Given the description of an element on the screen output the (x, y) to click on. 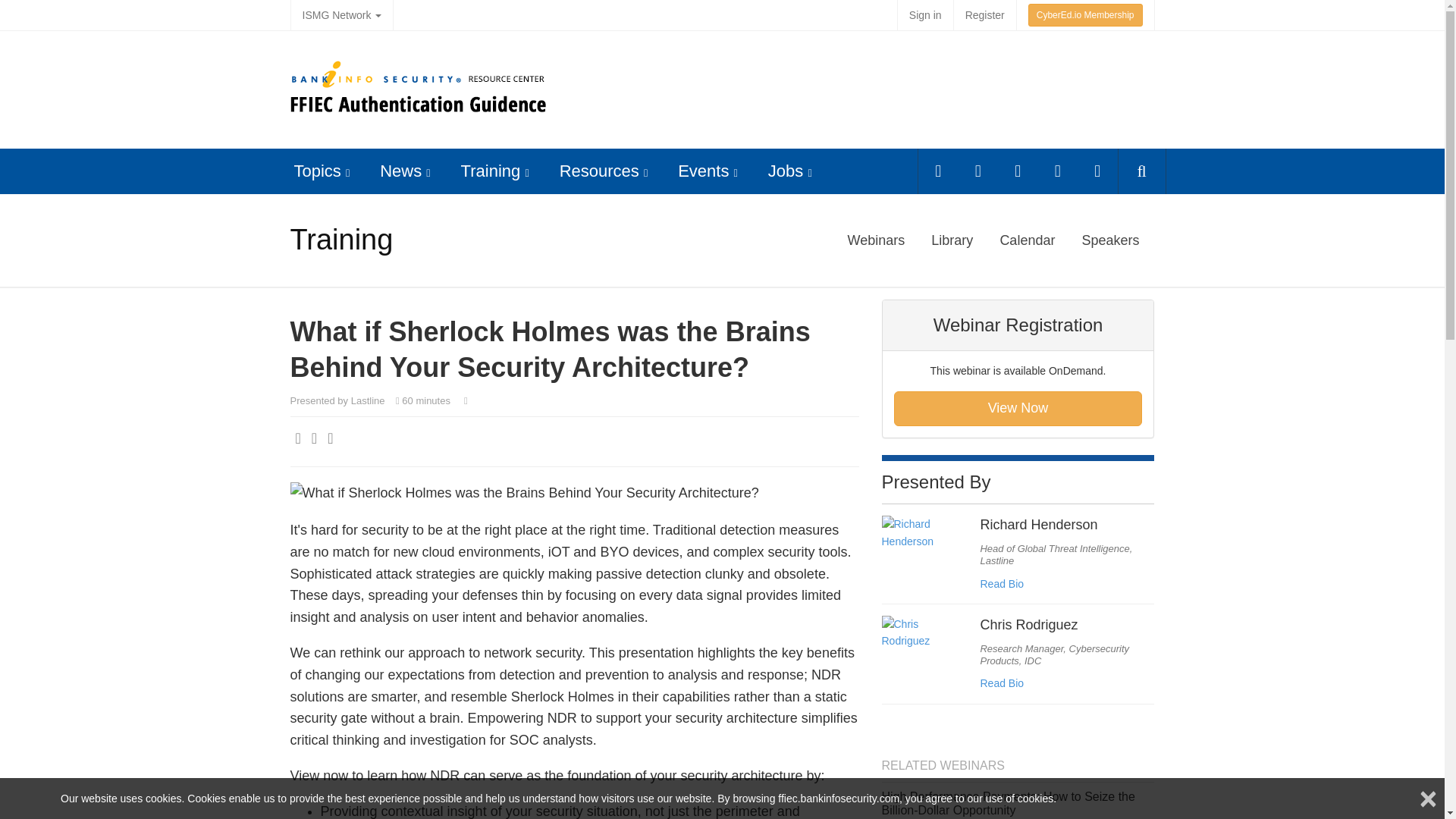
ISMG Network (341, 15)
Topics (317, 170)
Sign in (925, 15)
News (401, 170)
Register (984, 15)
CyberEd.io Membership (1084, 15)
